Given the description of an element on the screen output the (x, y) to click on. 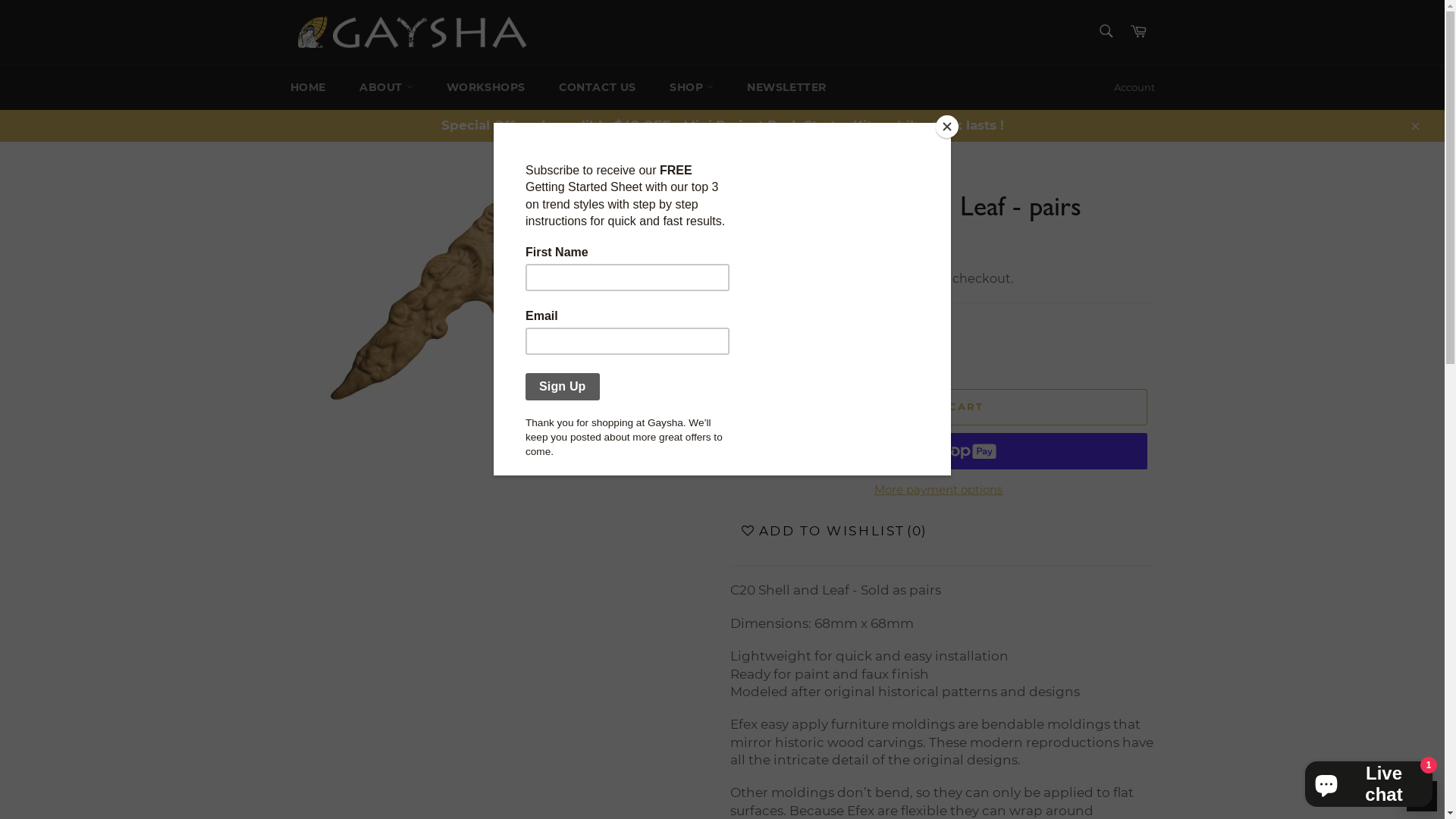
SHOP Element type: text (691, 87)
+ Element type: text (786, 354)
ADD TO WISHLIST Element type: text (820, 531)
ADD TO CART Element type: text (937, 407)
Cart Element type: text (1138, 32)
NEWSLETTER Element type: text (786, 87)
CONTACT US Element type: text (597, 87)
MY WISHLIST Element type: text (1421, 796)
HOME Element type: text (307, 87)
Close Element type: text (1414, 125)
Shopify online store chat Element type: hover (1368, 780)
Account Element type: text (1133, 87)
More payment options Element type: text (937, 489)
Search Element type: text (1105, 31)
ABOUT Element type: text (386, 87)
Shipping Element type: text (840, 278)
WORKSHOPS Element type: text (485, 87)
